Given the description of an element on the screen output the (x, y) to click on. 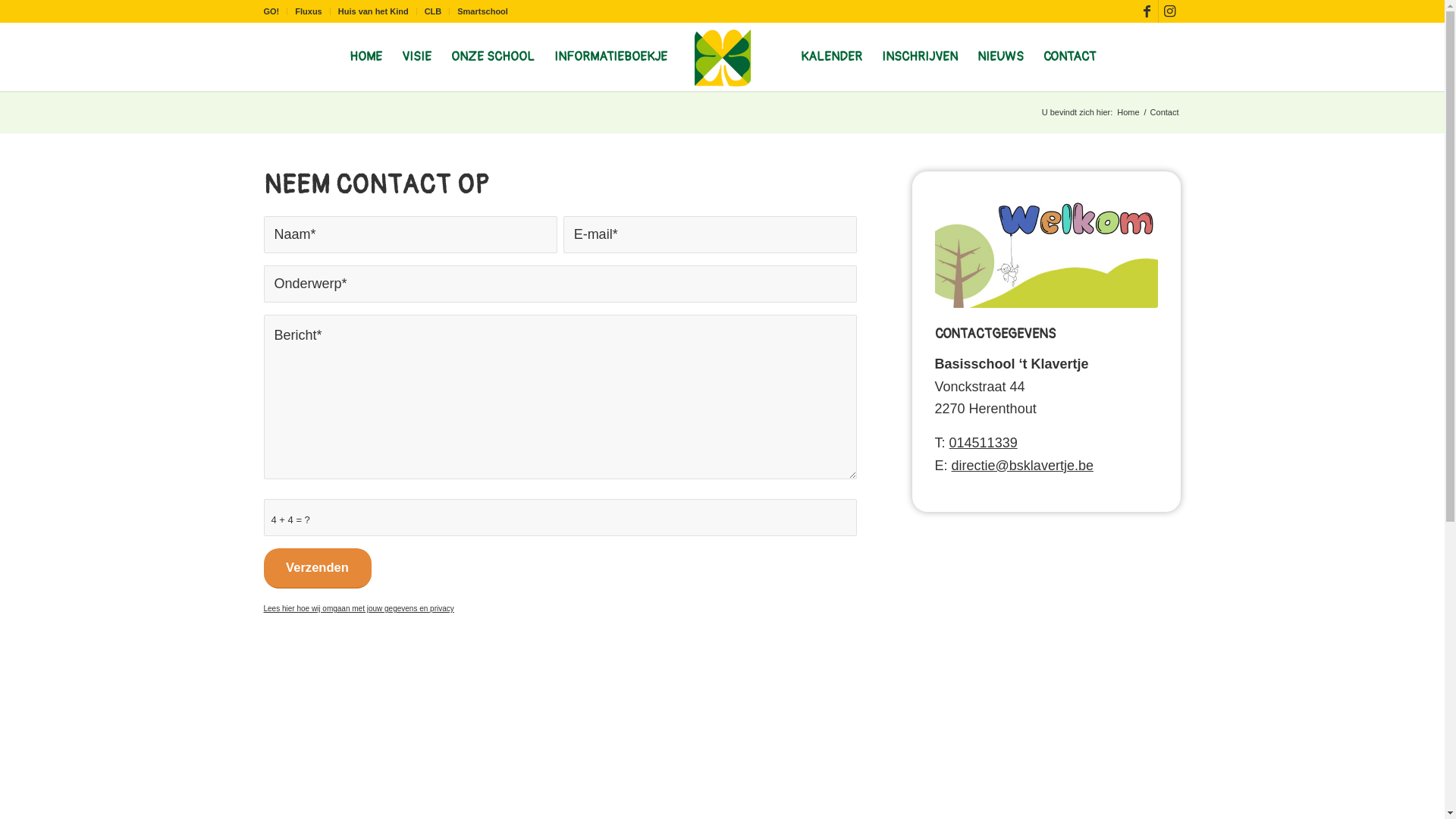
welkom-02 Element type: hover (1046, 250)
014511339 Element type: text (983, 442)
KALENDER Element type: text (830, 56)
Verzenden Element type: text (317, 568)
INSCHRIJVEN Element type: text (919, 56)
NIEUWS Element type: text (1000, 56)
GO! Element type: text (271, 11)
CLB Element type: text (433, 11)
Facebook Element type: hover (1146, 11)
Huis van het Kind Element type: text (373, 11)
Instagram Element type: hover (1169, 11)
directie@bsklavertje.be Element type: text (1022, 465)
Home Element type: text (1127, 112)
HOME Element type: text (365, 56)
Fluxus Element type: text (307, 11)
VISIE Element type: text (415, 56)
INFORMATIEBOEKJE Element type: text (610, 56)
Smartschool Element type: text (482, 11)
Lees hier hoe wij omgaan met jouw gegevens en privacy Element type: text (358, 608)
ONZE SCHOOL Element type: text (492, 56)
CONTACT Element type: text (1068, 56)
